Given the description of an element on the screen output the (x, y) to click on. 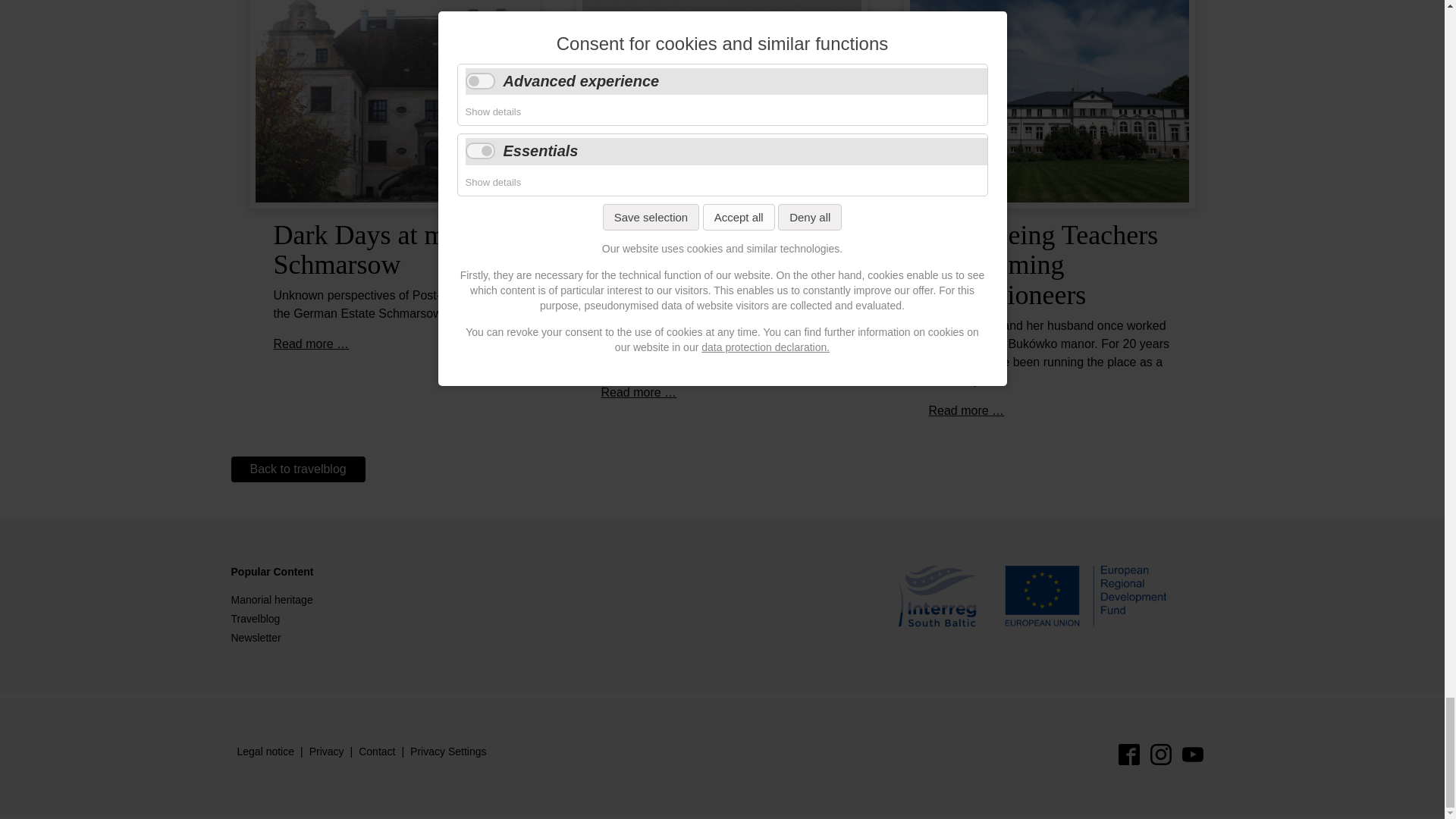
instagram (1160, 753)
youtube (1191, 753)
